Given the description of an element on the screen output the (x, y) to click on. 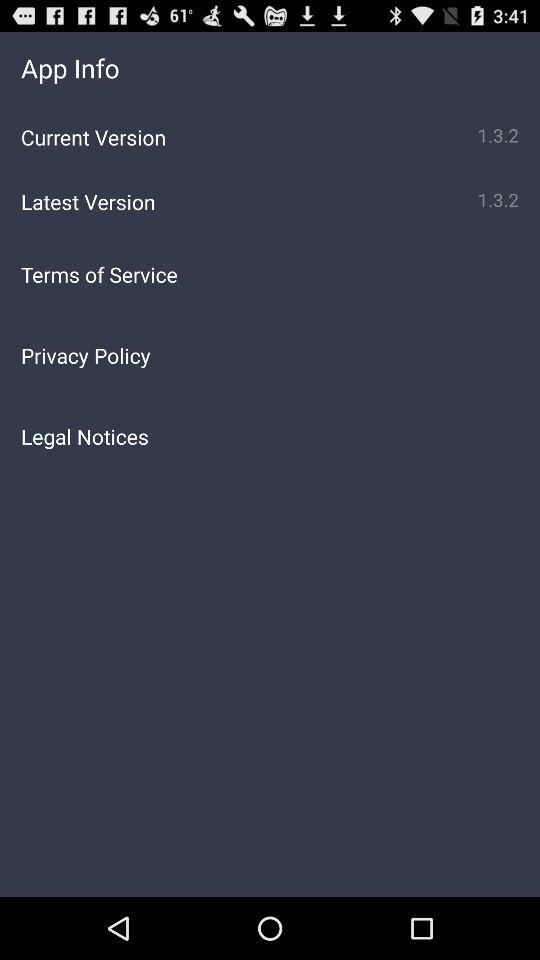
turn on the app below the latest version app (270, 274)
